Given the description of an element on the screen output the (x, y) to click on. 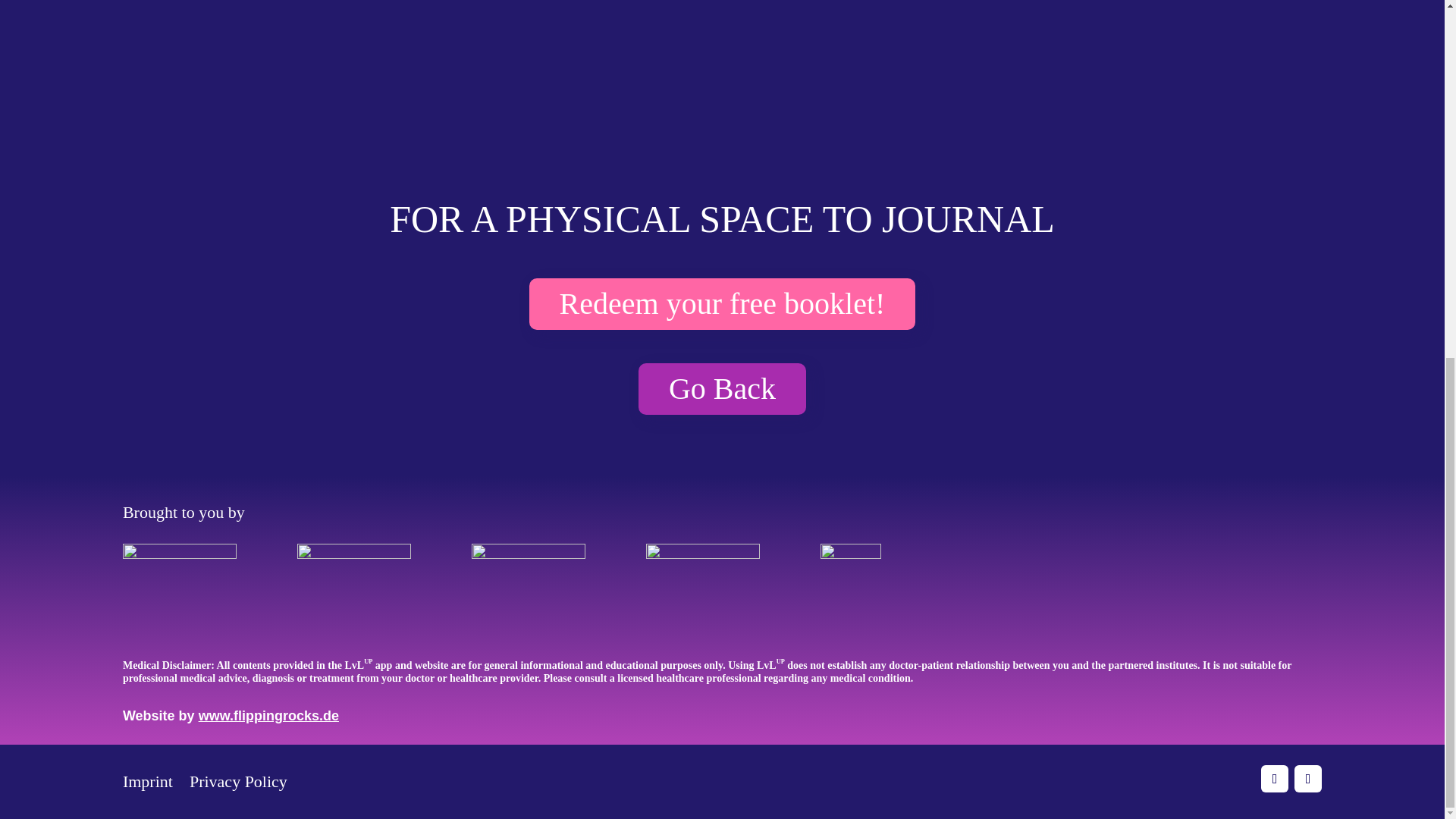
Redeem your free booklet! (722, 304)
www.flippingrocks.de (268, 715)
Go Back (722, 388)
Follow on Facebook (1274, 778)
Follow on Instagram (1308, 778)
Imprint (147, 784)
Privacy Policy (237, 784)
